Given the description of an element on the screen output the (x, y) to click on. 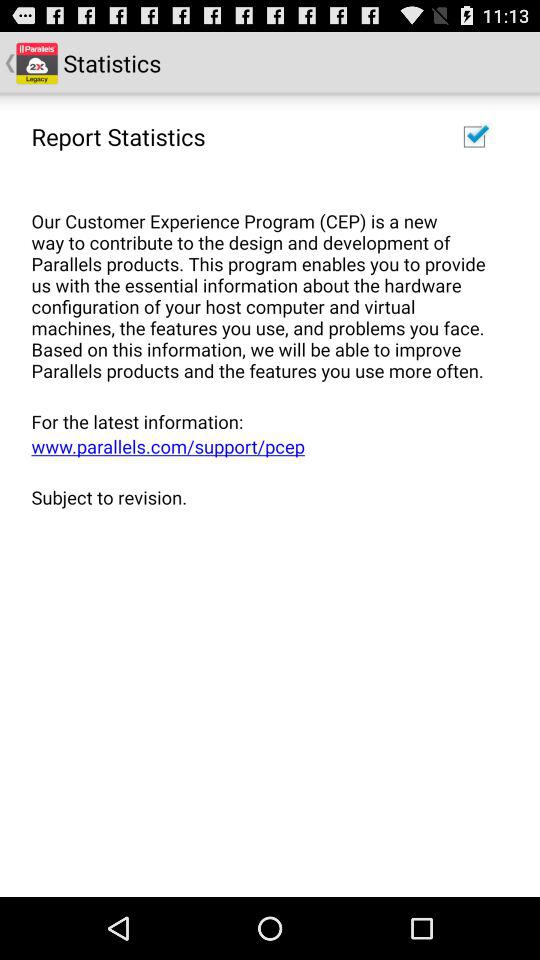
flip to the report statistics item (118, 136)
